Given the description of an element on the screen output the (x, y) to click on. 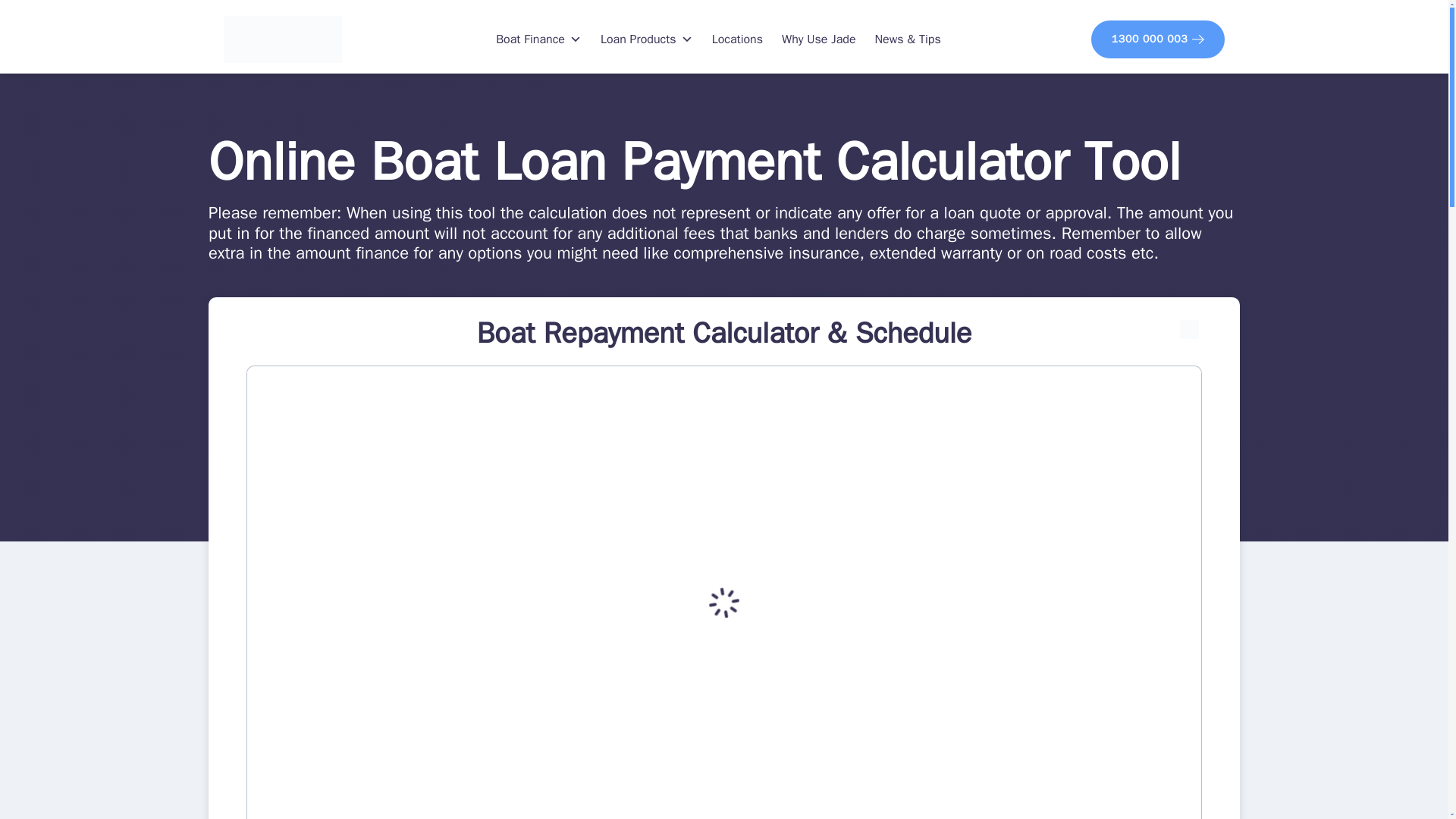
Loan Products (646, 39)
Locations (737, 39)
Why Use Jade (818, 39)
1300 000 003 (1157, 38)
Boat Finance (538, 39)
